Given the description of an element on the screen output the (x, y) to click on. 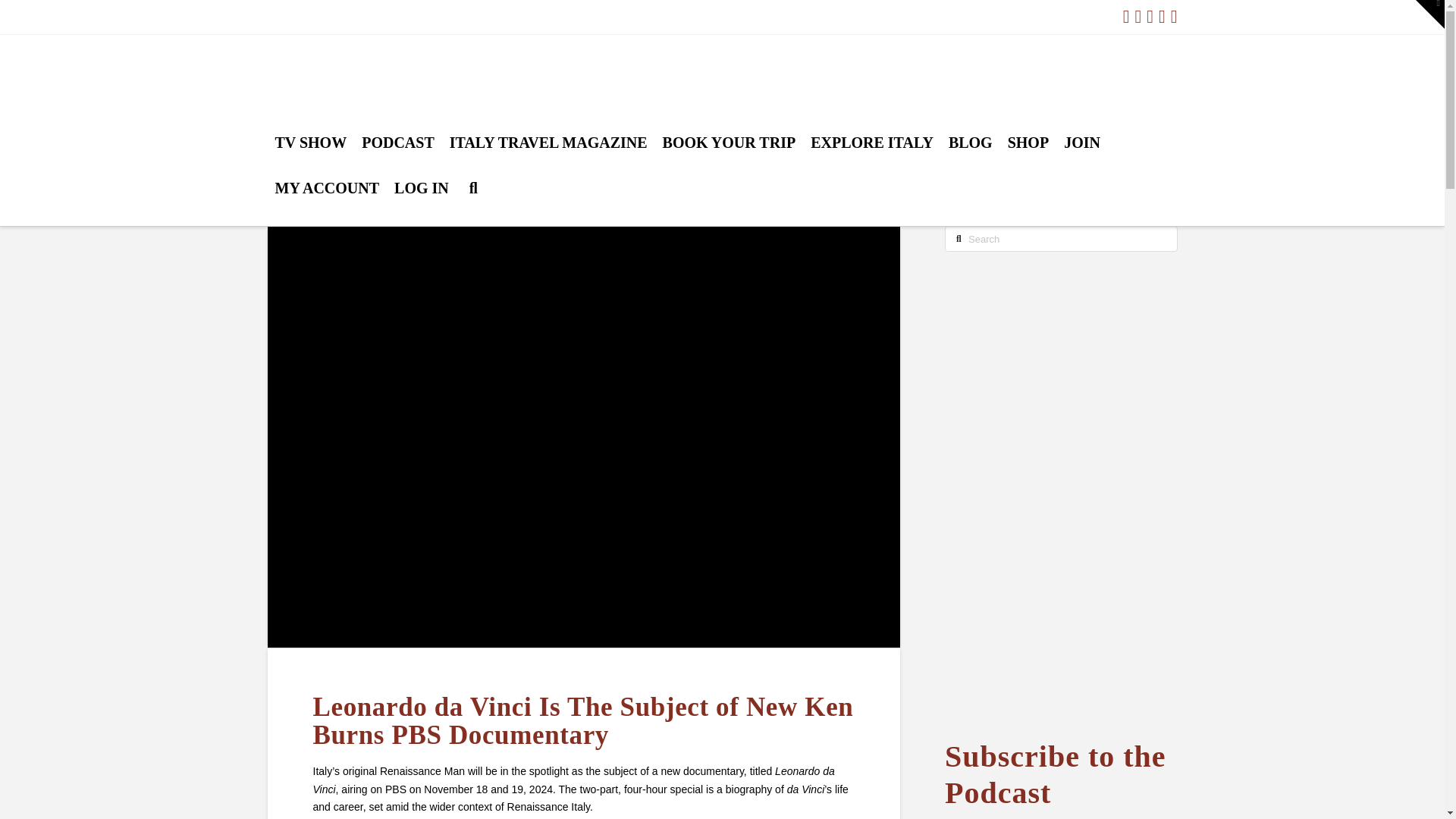
BOOK YOUR TRIP (729, 157)
TV SHOW (309, 157)
PODCAST (397, 157)
ITALY TRAVEL MAGAZINE (548, 157)
